Given the description of an element on the screen output the (x, y) to click on. 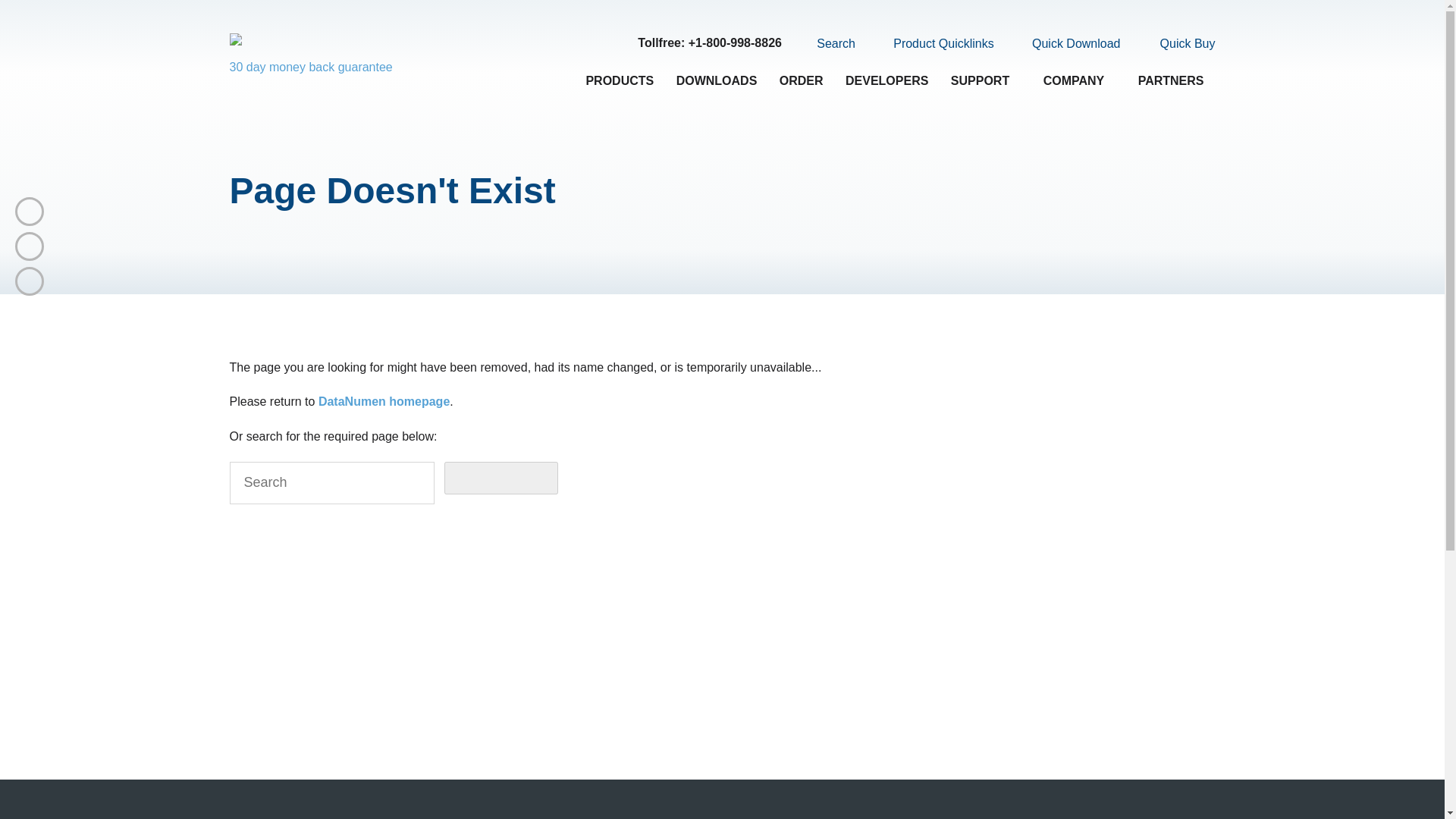
Search for: (330, 482)
Search (827, 43)
Product Quicklinks (934, 44)
Quick Download (1066, 44)
